Given the description of an element on the screen output the (x, y) to click on. 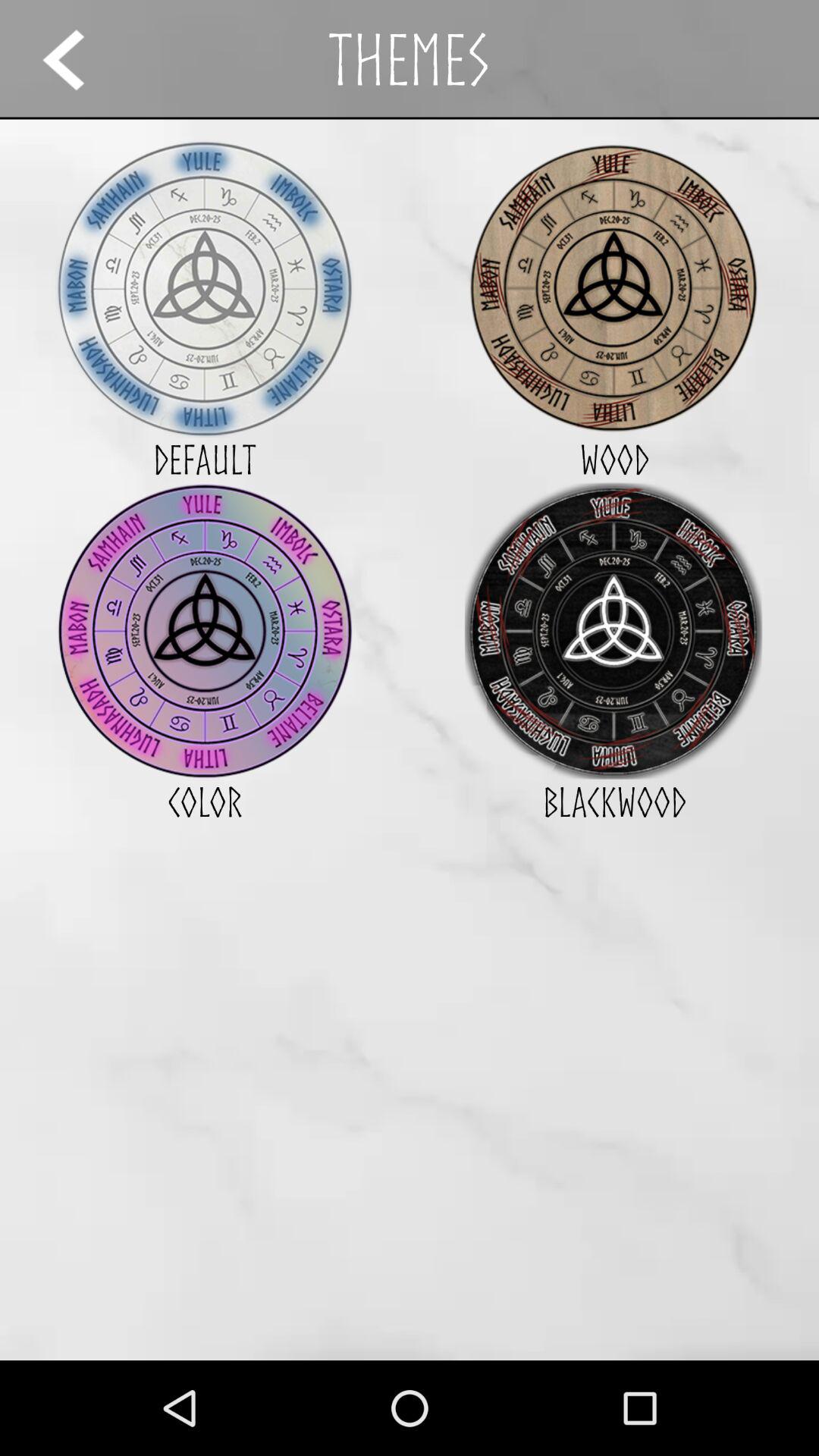
click the icon next to the themes app (77, 59)
